Given the description of an element on the screen output the (x, y) to click on. 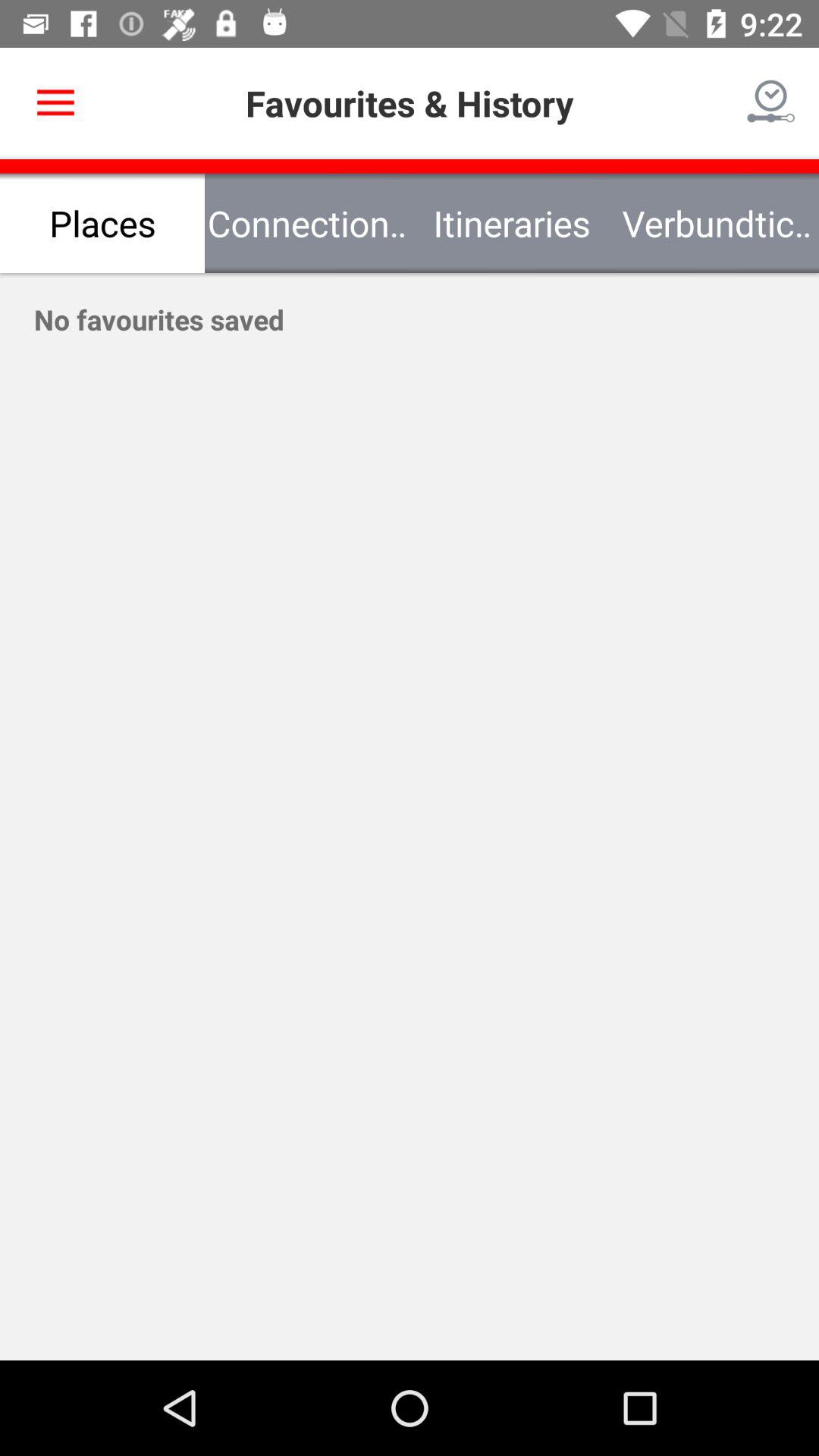
turn off icon to the right of places (306, 223)
